Given the description of an element on the screen output the (x, y) to click on. 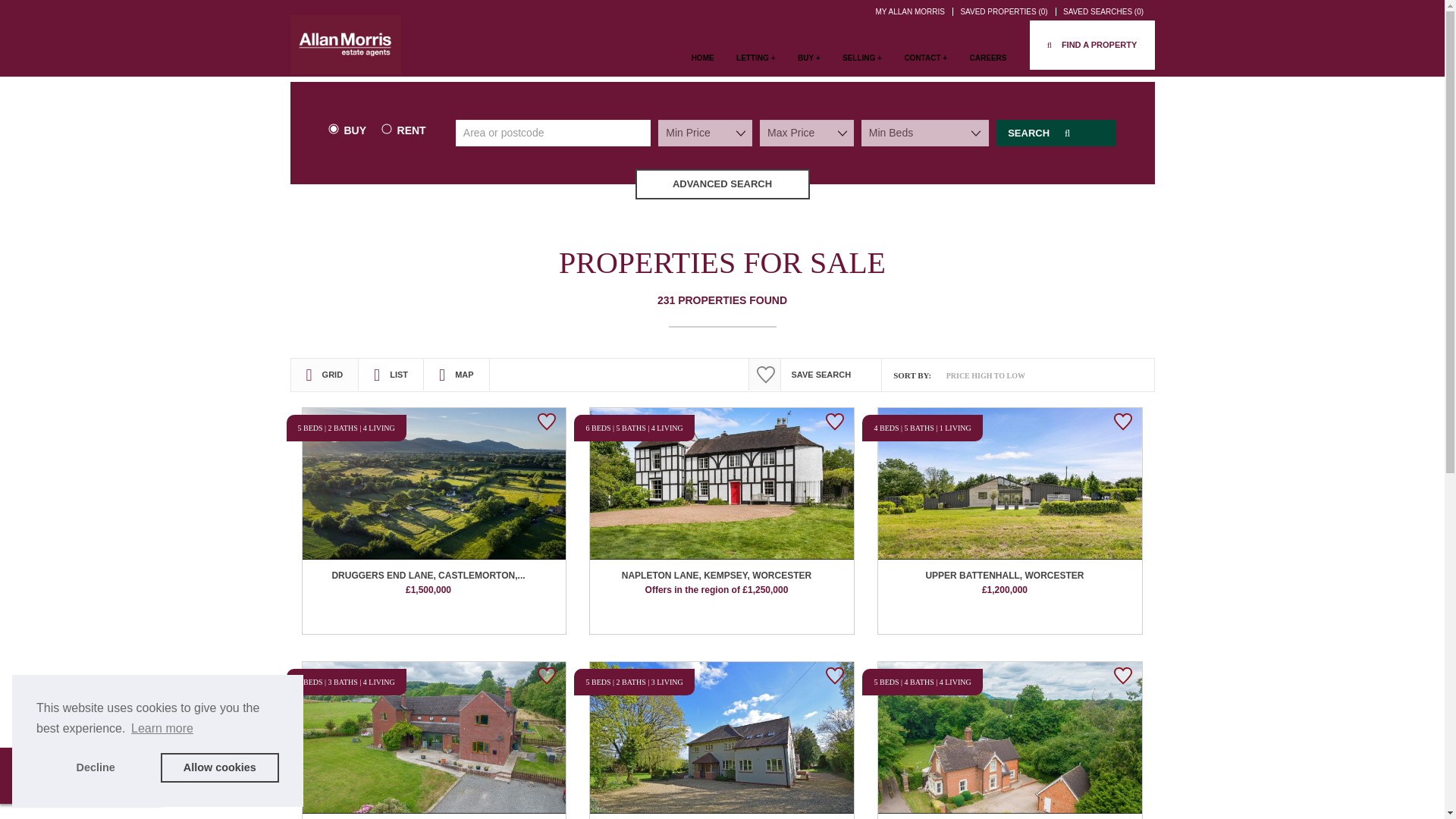
Decline (95, 767)
Allow cookies (219, 767)
Learn more (162, 728)
HOME (702, 65)
MY ALLAN MORRIS (911, 11)
